Given the description of an element on the screen output the (x, y) to click on. 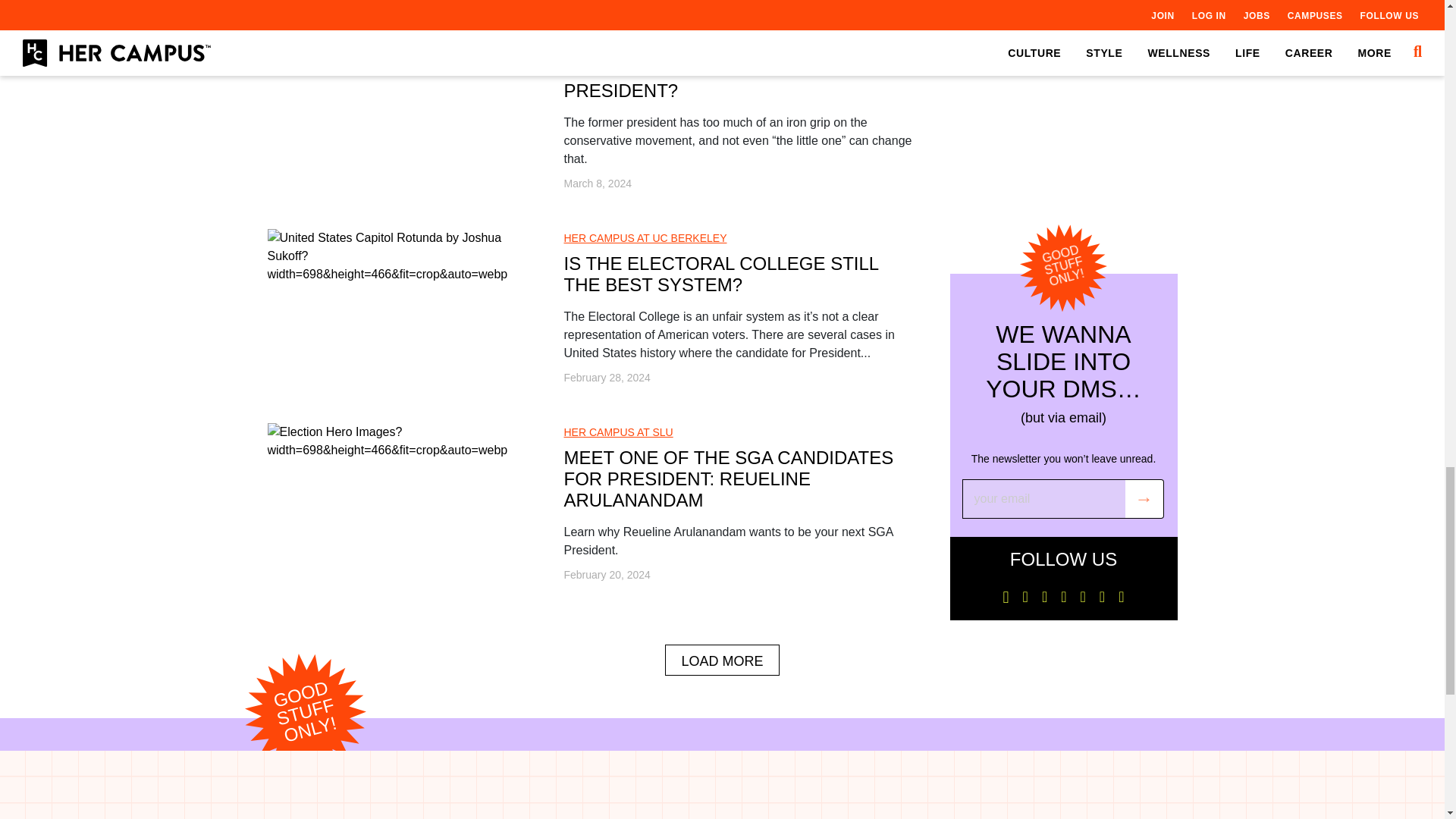
Nikki Haley: "The Little One" For President? 8 (397, 53)
IS THE ELECTORAL COLLEGE STILL THE BEST SYSTEM? 9 (397, 256)
